Given the description of an element on the screen output the (x, y) to click on. 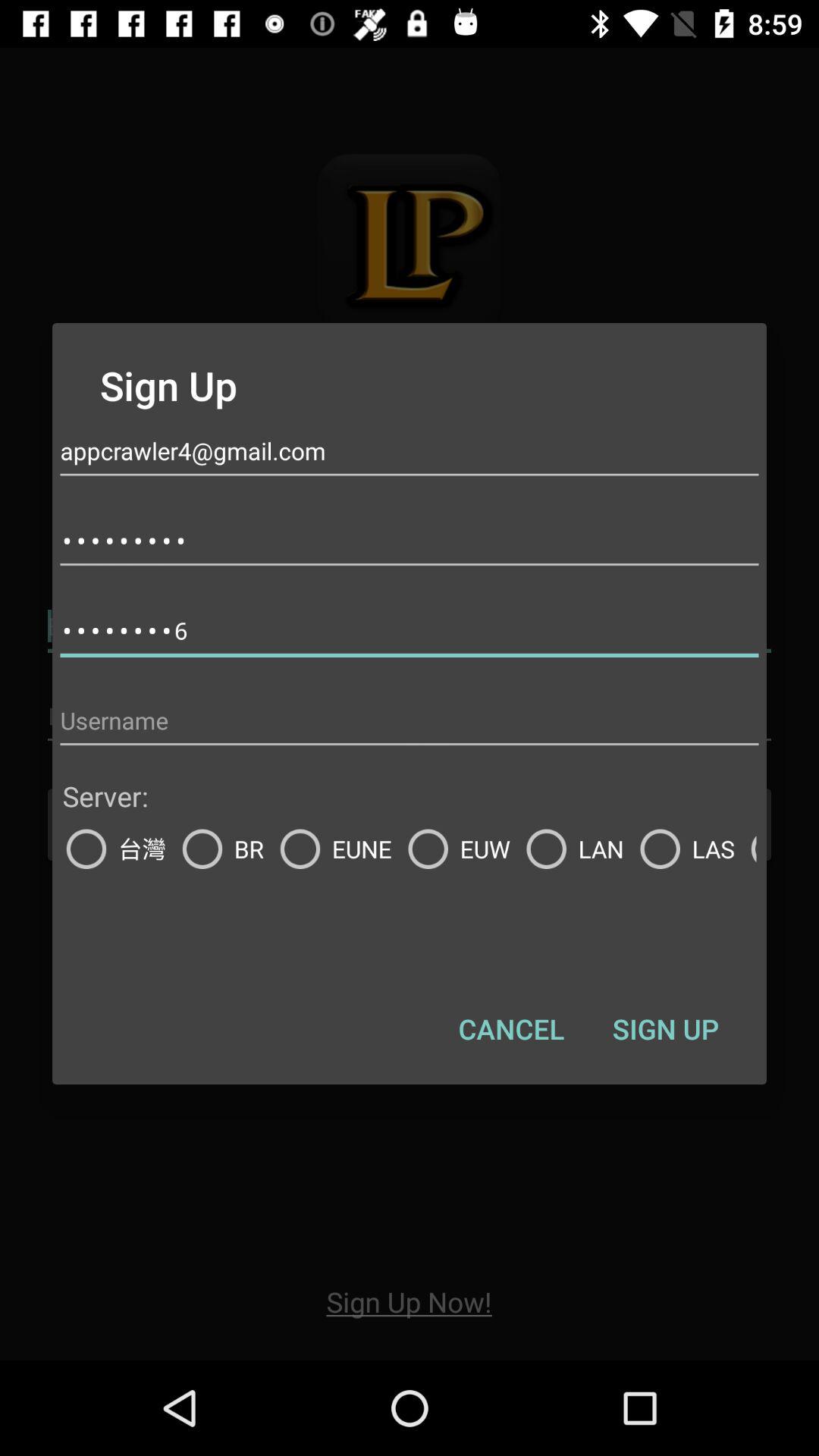
type username (409, 720)
